Given the description of an element on the screen output the (x, y) to click on. 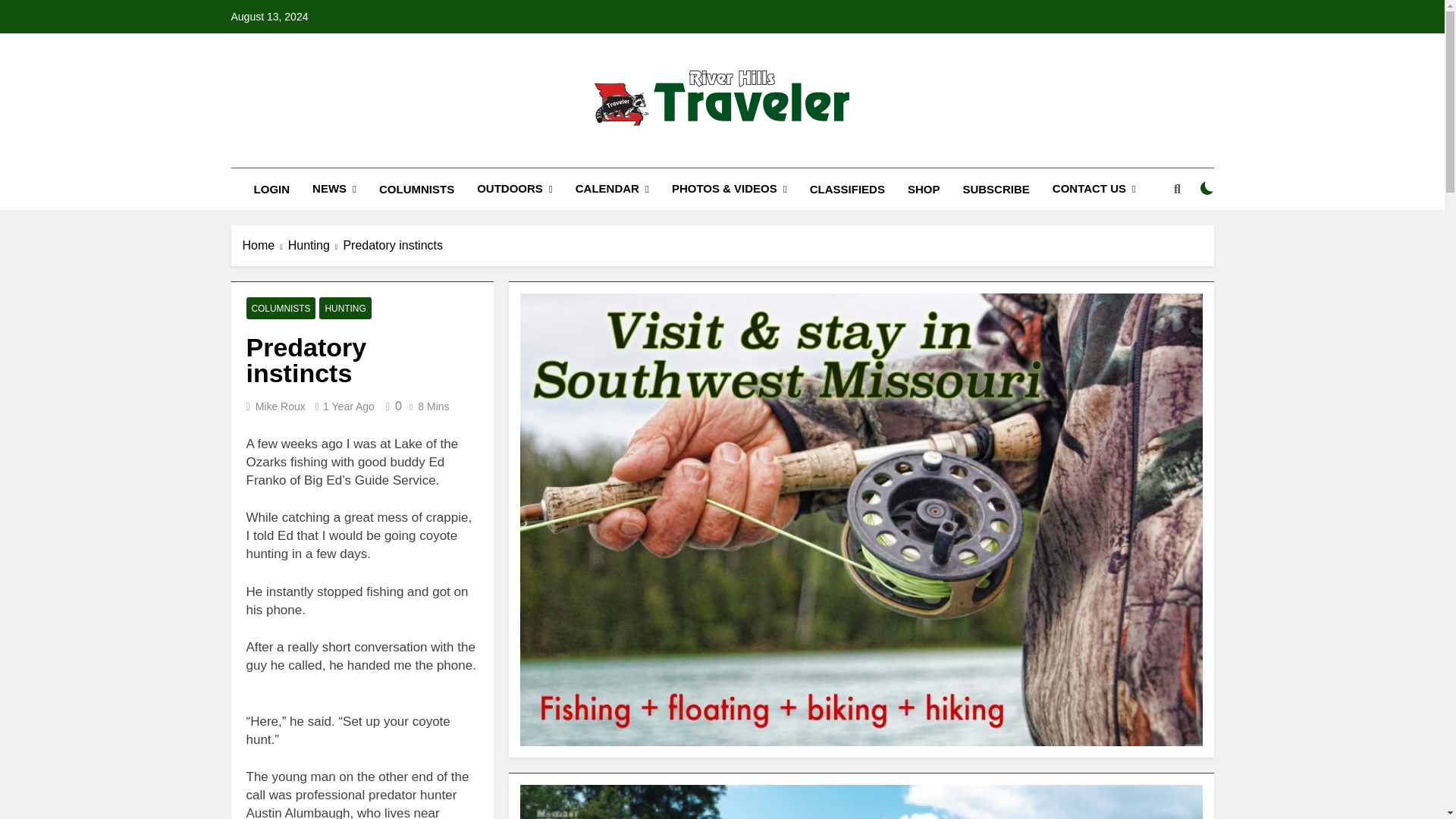
NEWS (334, 188)
on (1206, 187)
River Hills Traveler (625, 153)
OUTDOORS (514, 188)
COLUMNISTS (416, 188)
LOGIN (272, 188)
